Given the description of an element on the screen output the (x, y) to click on. 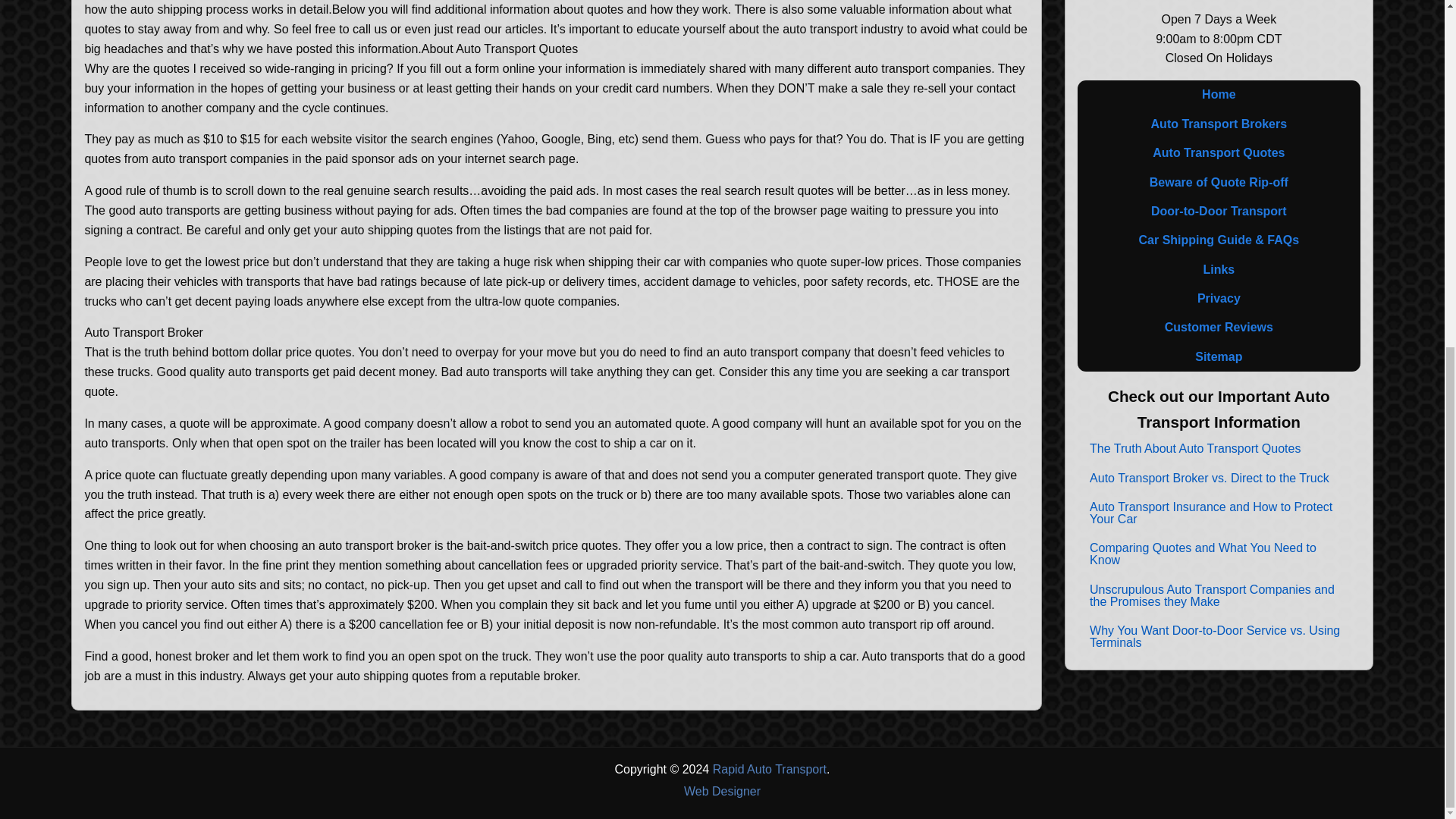
Auto Transport Insurance and How to Protect Your Car (1218, 513)
The Truth About Auto Transport Quotes (1195, 448)
Sitemap (1218, 357)
Auto Transport Quotes (1218, 152)
Links (1218, 269)
Call us today! (1218, 2)
Home (1218, 94)
Door-to-Door Transport (1218, 211)
Web Designer (722, 791)
Why You Want Door-to-Door Service vs. Using Terminals (1218, 636)
Privacy (1218, 298)
Rapid Auto Transport (770, 769)
Beware of Quote Rip-off (1218, 181)
Auto Transport Brokers (1218, 123)
